Given the description of an element on the screen output the (x, y) to click on. 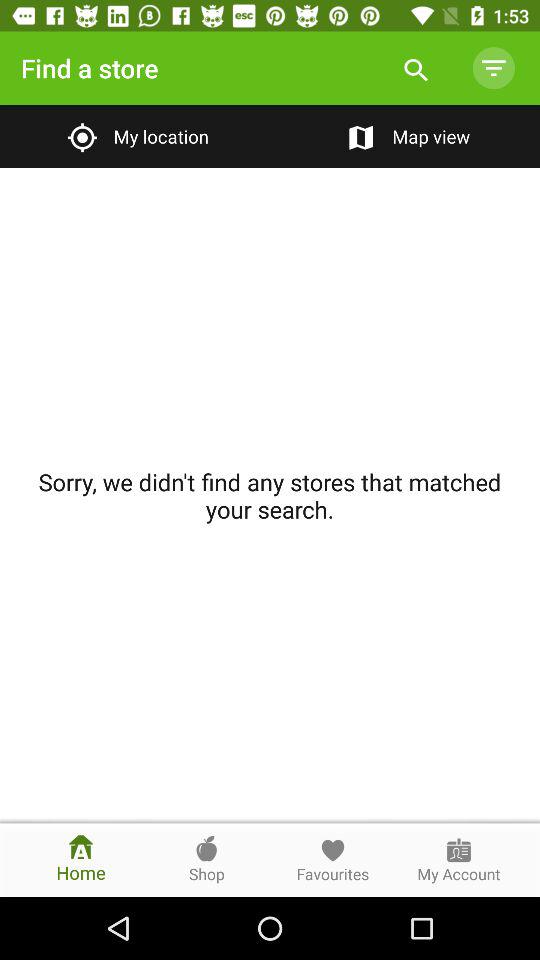
tap item below find a store (134, 136)
